Given the description of an element on the screen output the (x, y) to click on. 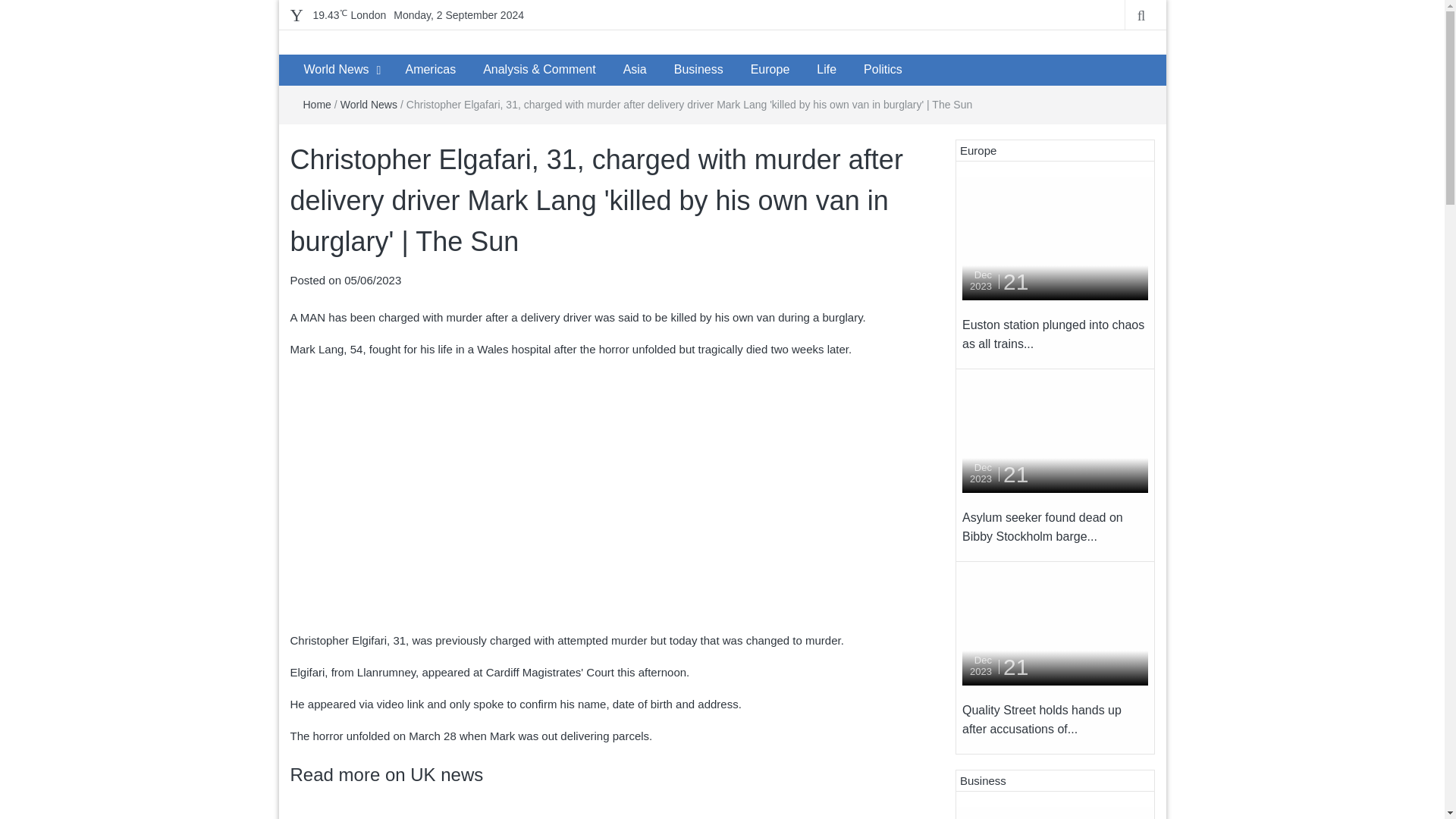
Euston station plunged into chaos as all trains cancelled (1055, 241)
Euston station plunged into chaos as all trains cancelled (1053, 334)
World News (335, 69)
Clouds (349, 14)
World News (368, 104)
Euston station plunged into chaos as all trains cancelled (1055, 239)
Home (316, 104)
